Given the description of an element on the screen output the (x, y) to click on. 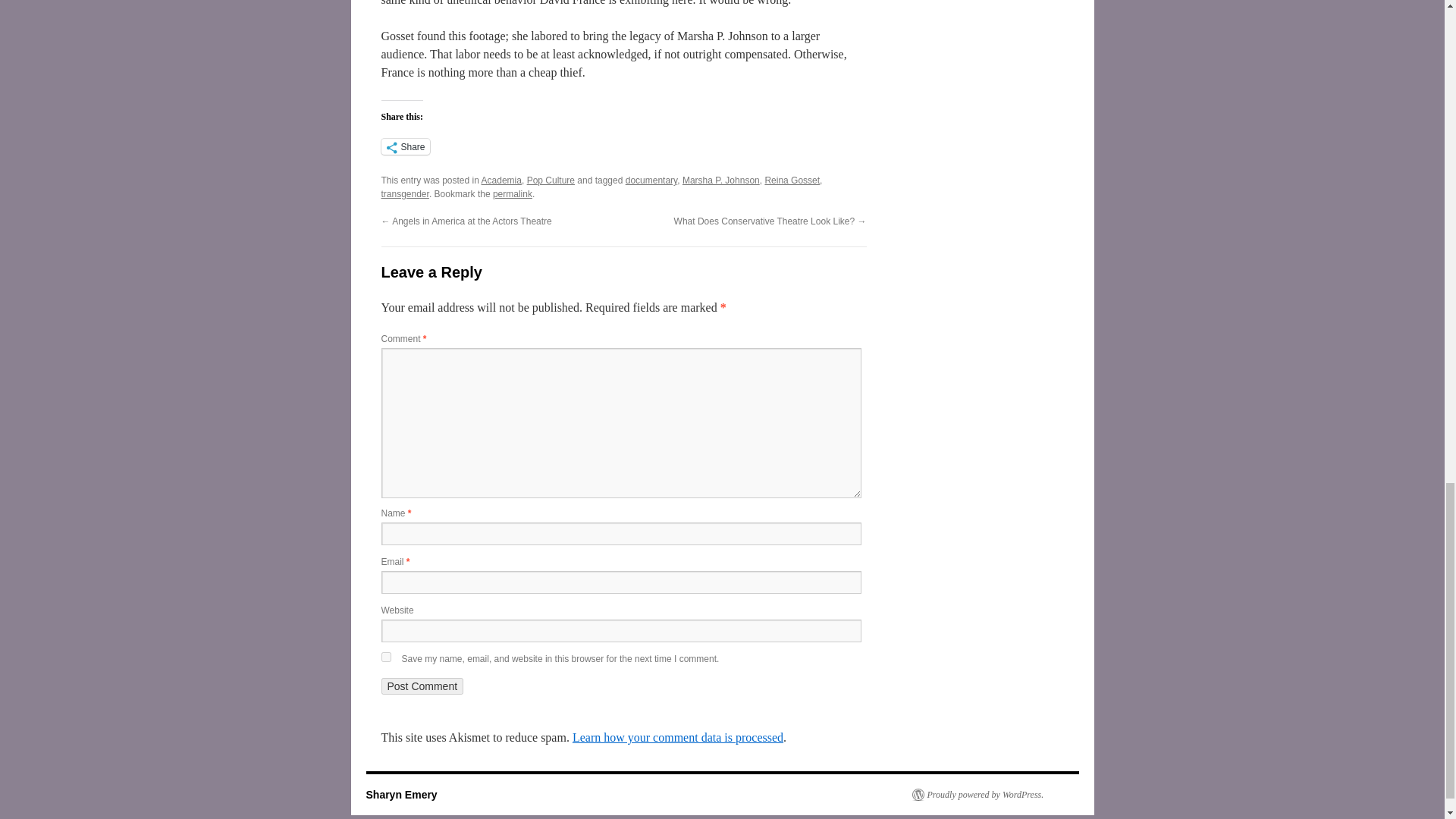
yes (385, 656)
Reina Gosset (791, 180)
Marsha P. Johnson (721, 180)
Permalink to The Theft of Marsha P. Johnson (512, 194)
Semantic Personal Publishing Platform (977, 794)
documentary (651, 180)
permalink (512, 194)
Academia (501, 180)
Learn how your comment data is processed (677, 737)
Share (404, 146)
